Given the description of an element on the screen output the (x, y) to click on. 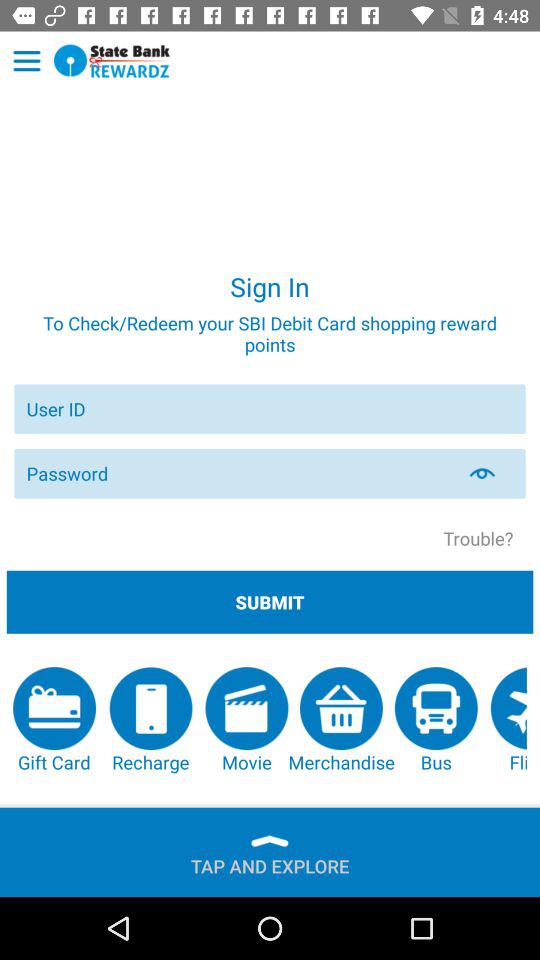
press item to the right of movie (341, 720)
